Given the description of an element on the screen output the (x, y) to click on. 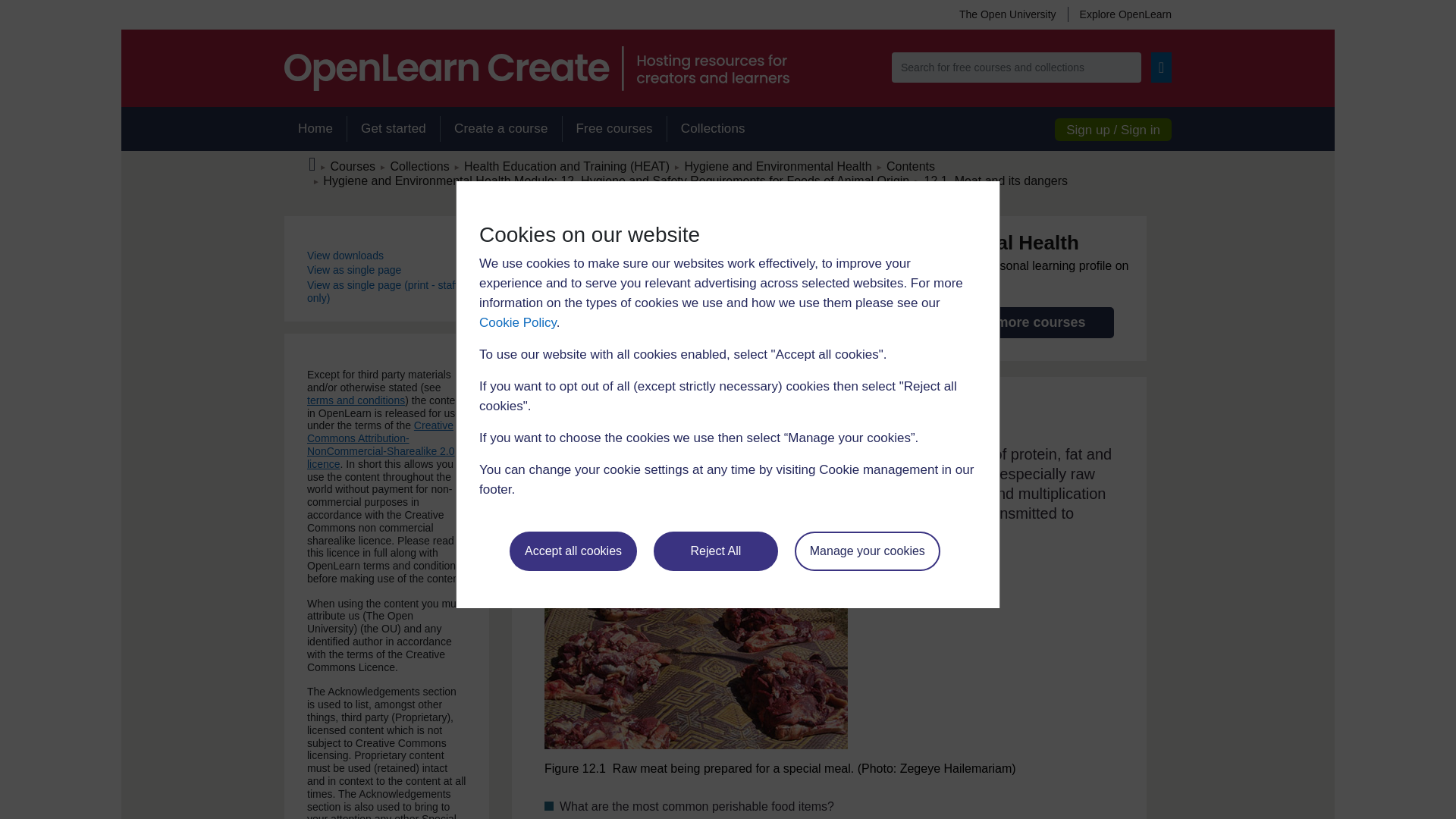
Explore OpenLearn (1119, 14)
The Open University (1007, 14)
SC Web Editor (615, 180)
Manage your cookies (867, 550)
Accept all cookies (573, 550)
The Open University (1007, 14)
Explore OpenLearn (1119, 14)
Reject All (715, 550)
Get started (392, 128)
Free courses (614, 128)
Cookie Policy (517, 322)
Home (314, 128)
OpenLearn Create (536, 67)
Collections (712, 128)
Create a course (500, 128)
